Given the description of an element on the screen output the (x, y) to click on. 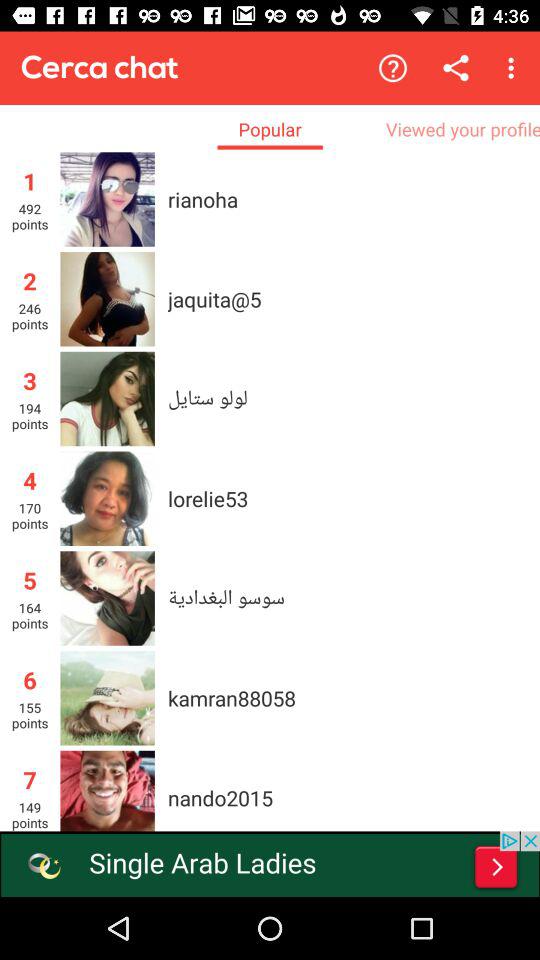
select advertisement (270, 864)
